Given the description of an element on the screen output the (x, y) to click on. 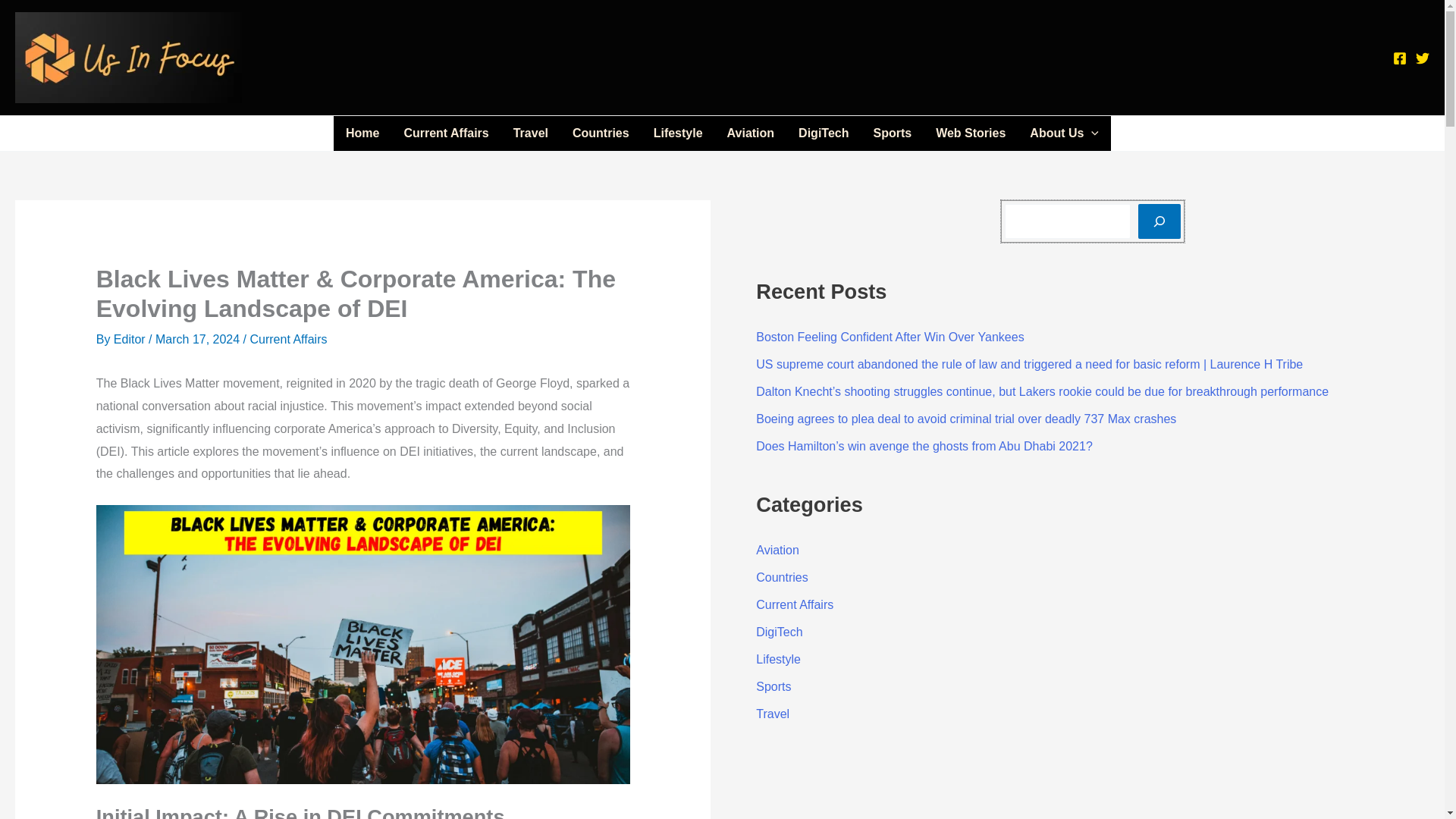
Countries (601, 133)
Travel (530, 133)
Aviation (750, 133)
Lifestyle (678, 133)
Home (362, 133)
About Us (1063, 133)
DigiTech (823, 133)
View all posts by Editor (130, 338)
Current Affairs (445, 133)
Web Stories (970, 133)
